Given the description of an element on the screen output the (x, y) to click on. 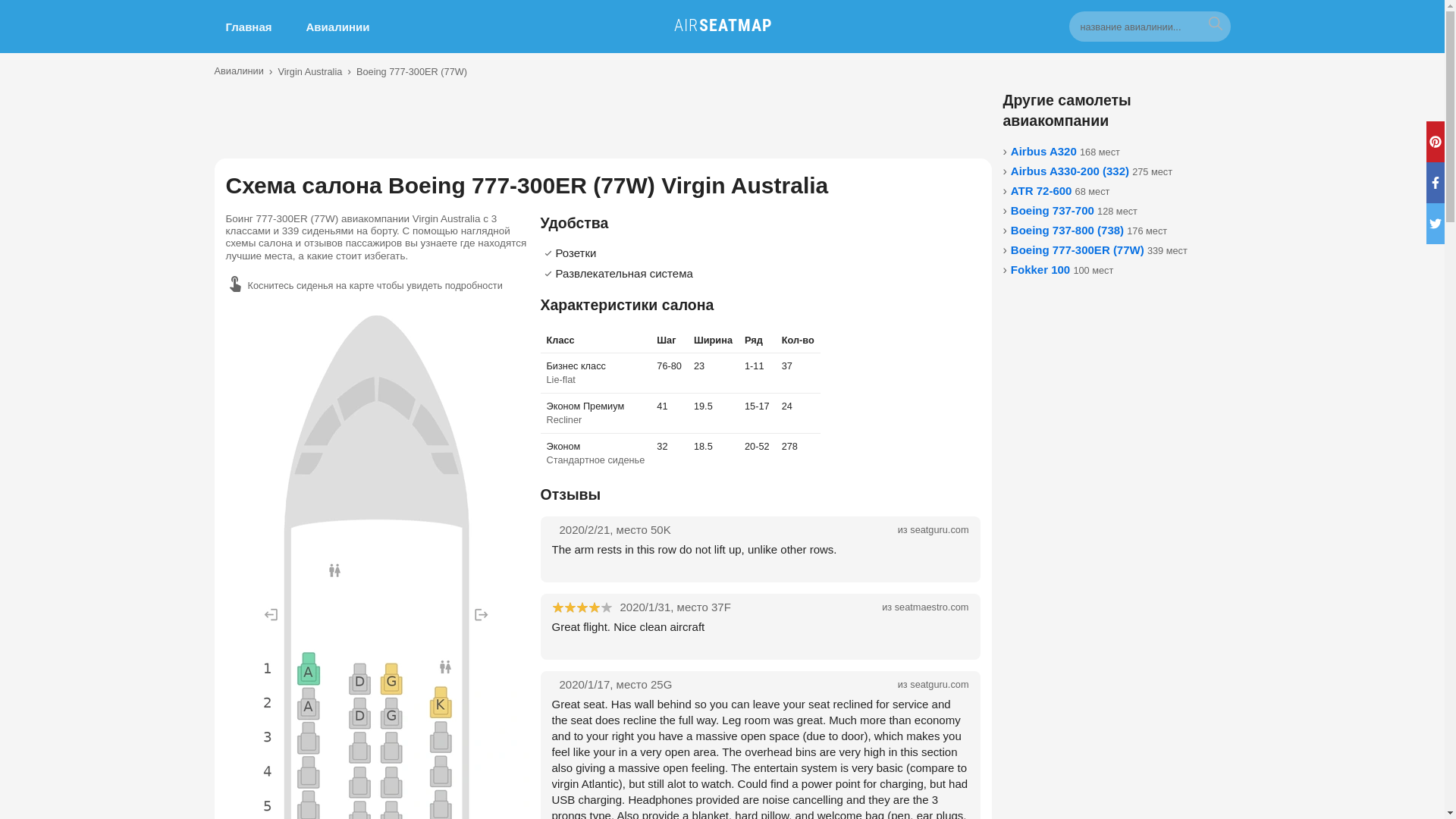
seatguru.com (939, 684)
Advertisement (602, 124)
Virgin Australia (310, 71)
seatguru.com (939, 529)
seatmaestro.com (932, 606)
